Given the description of an element on the screen output the (x, y) to click on. 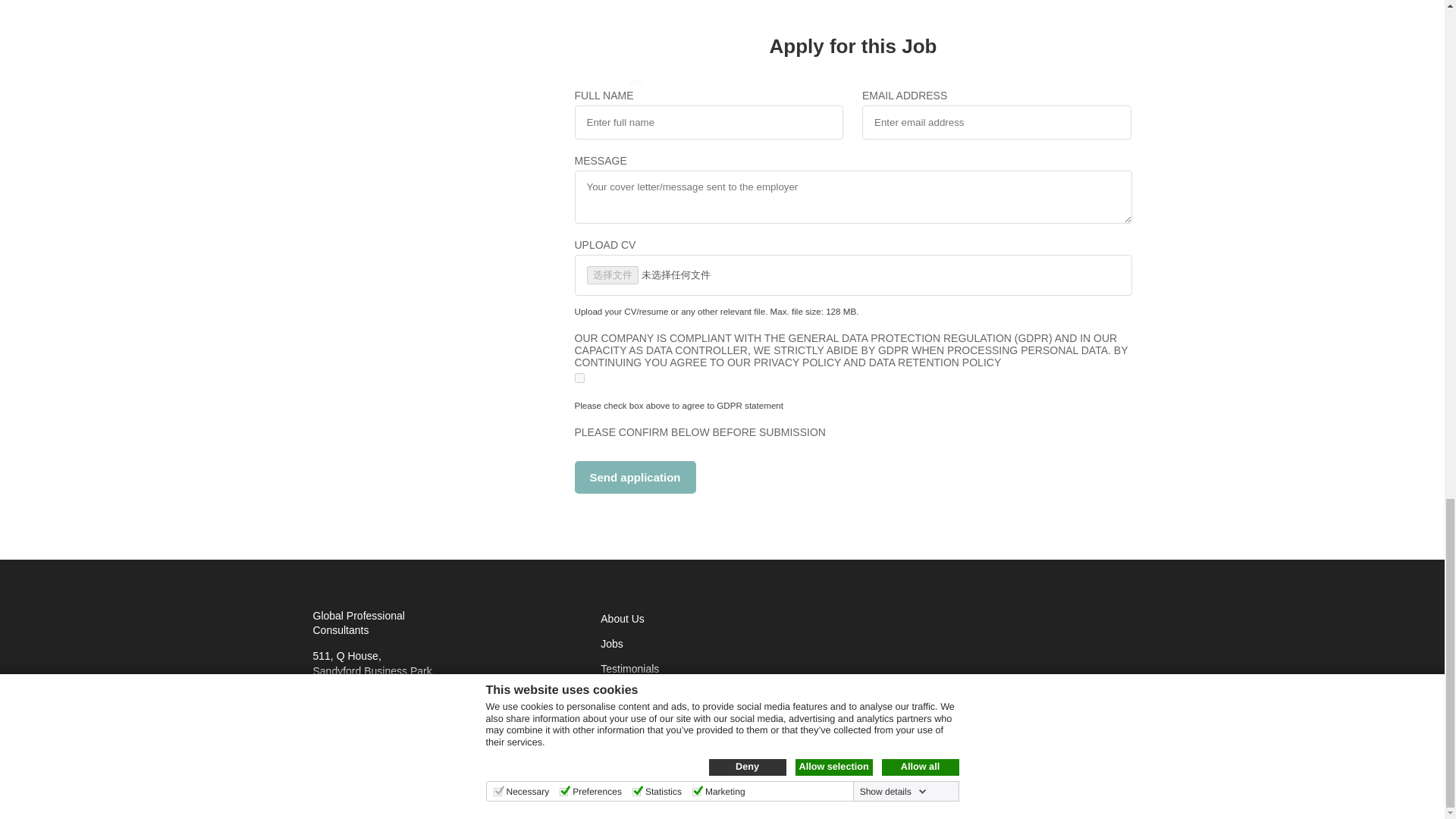
Send application (635, 477)
1 (580, 378)
